Given the description of an element on the screen output the (x, y) to click on. 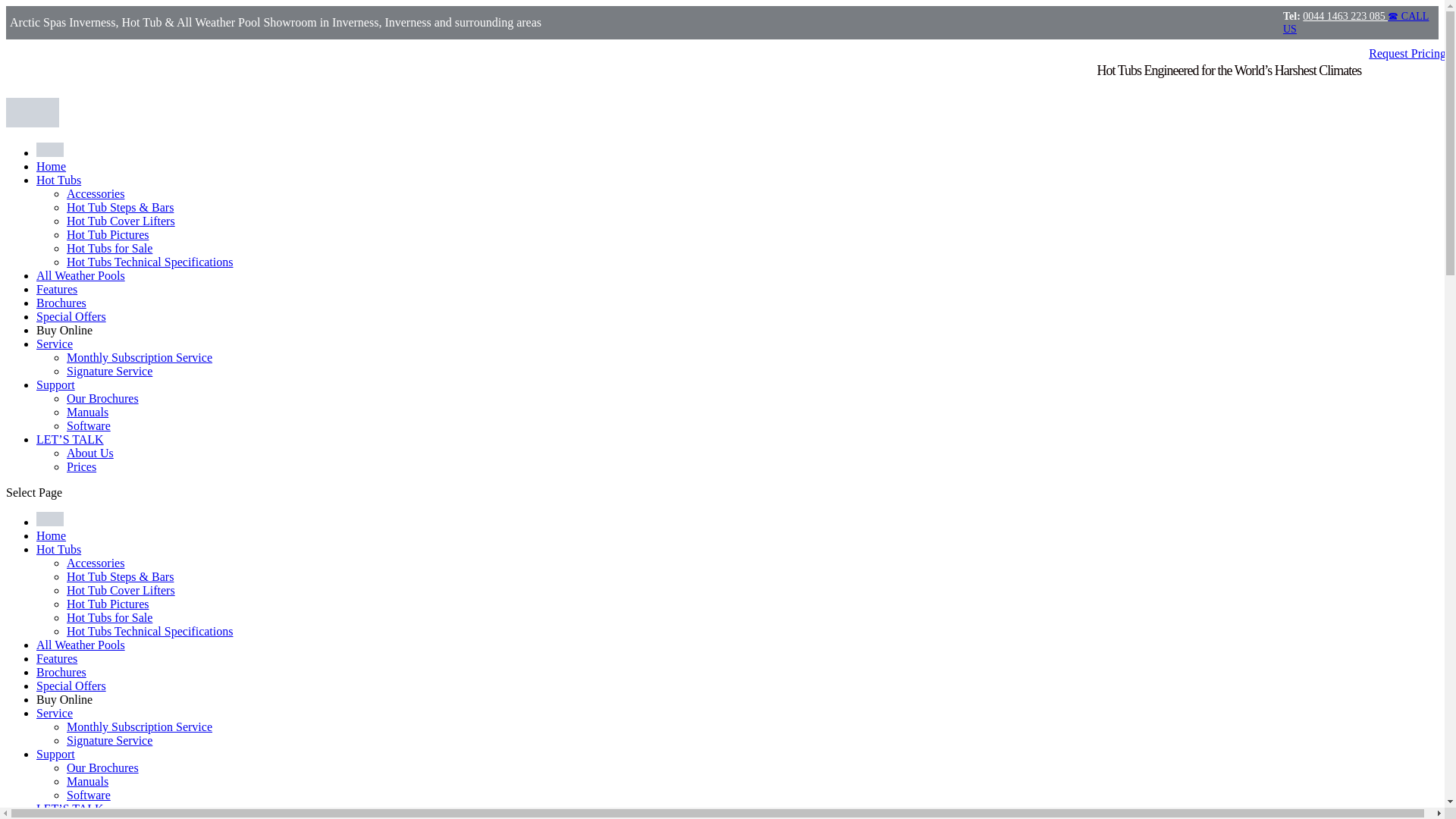
Home (50, 165)
Buy Online (64, 329)
All Weather Pools (80, 275)
Hot Tub Pictures (107, 234)
Manuals (86, 411)
Home (50, 535)
Signature Service (109, 370)
All Weather Pools (80, 644)
Features (56, 658)
Monthly Subscription Service (139, 357)
Support (55, 384)
Prices (81, 466)
Hot Tubs (58, 179)
Hot Tubs Technical Specifications (149, 631)
